Given the description of an element on the screen output the (x, y) to click on. 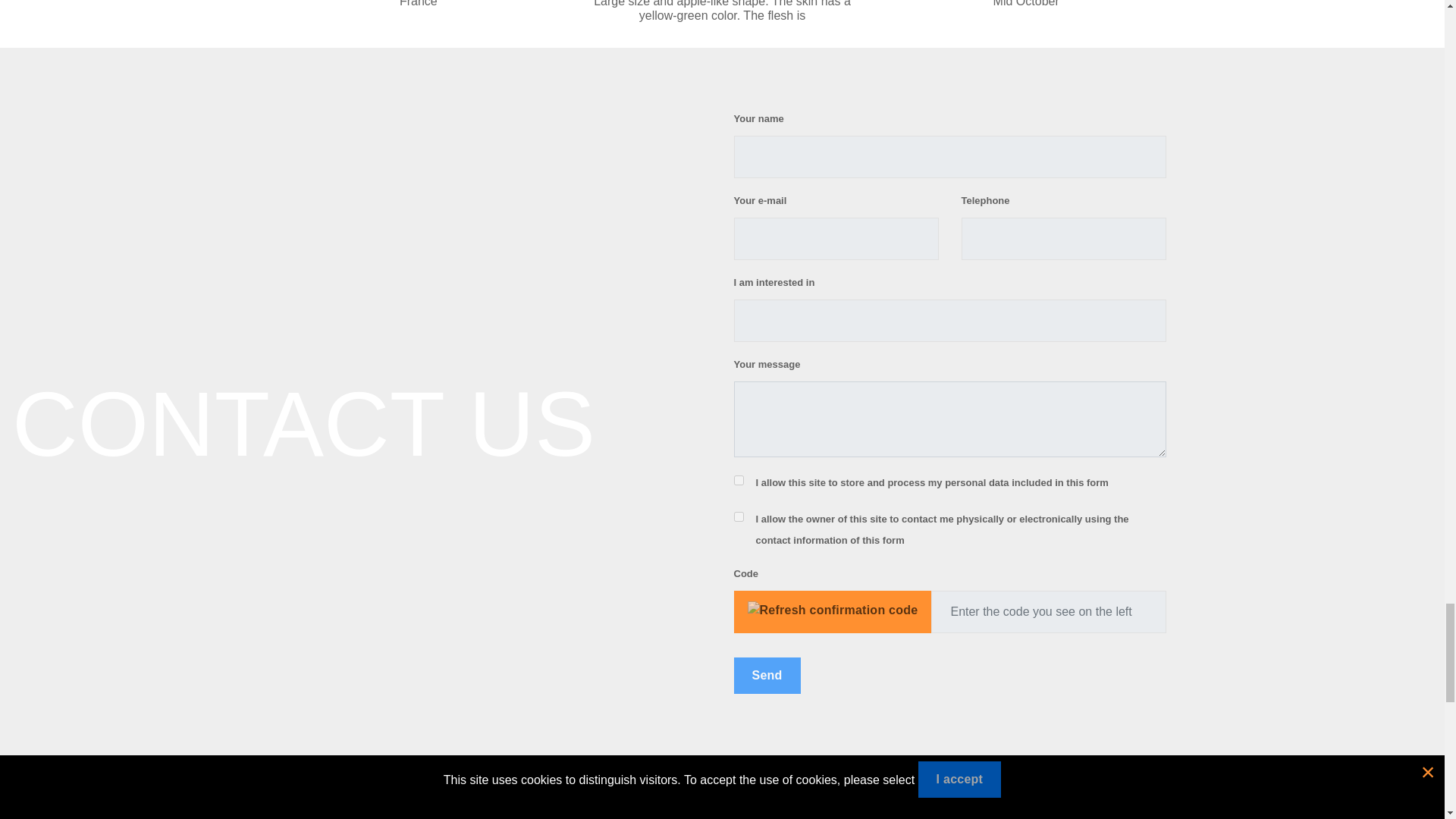
Refresh confirmation code (832, 610)
1 (738, 480)
1 (738, 516)
Send (766, 675)
